Given the description of an element on the screen output the (x, y) to click on. 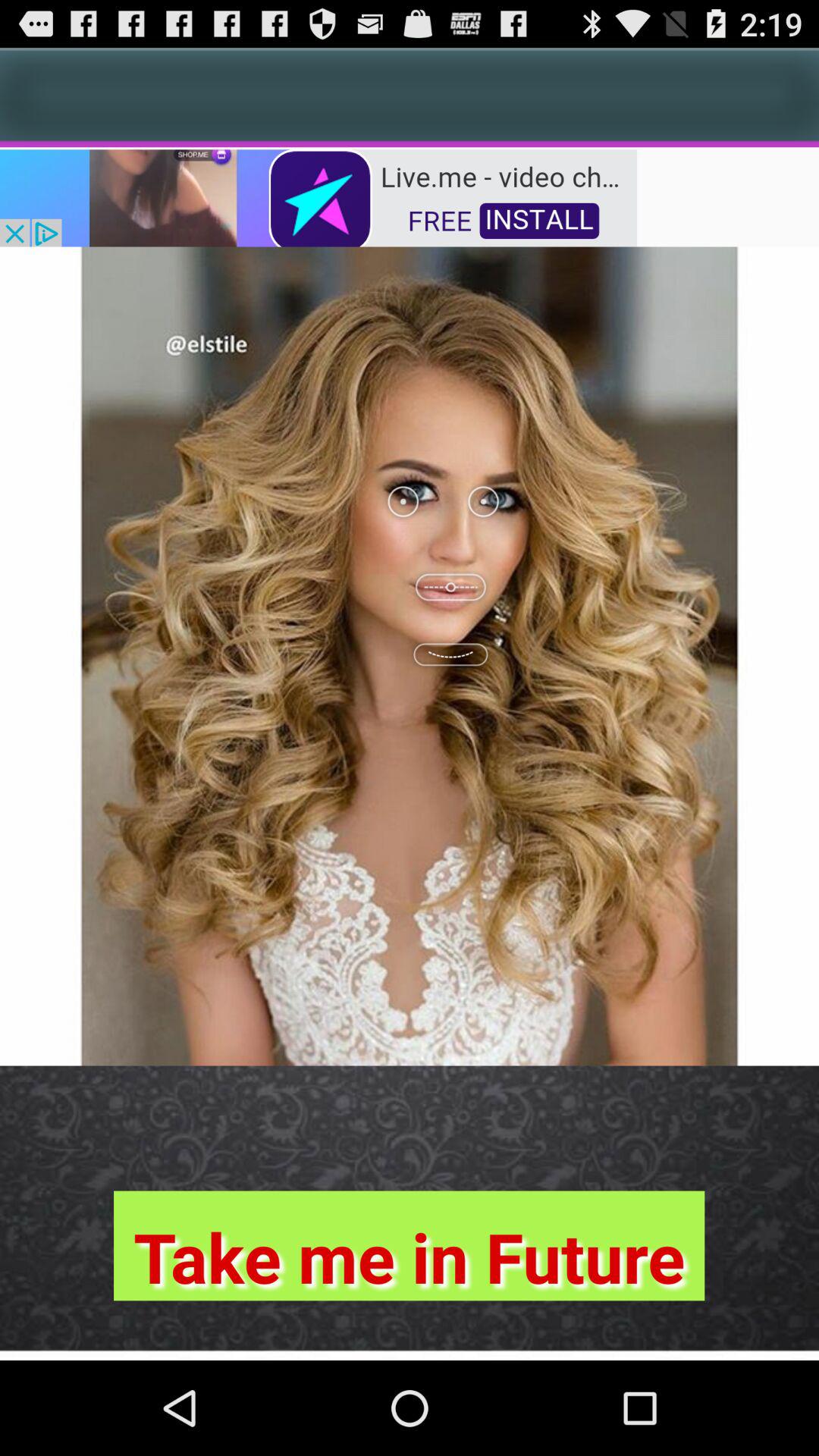
go to advertisement (318, 196)
